Given the description of an element on the screen output the (x, y) to click on. 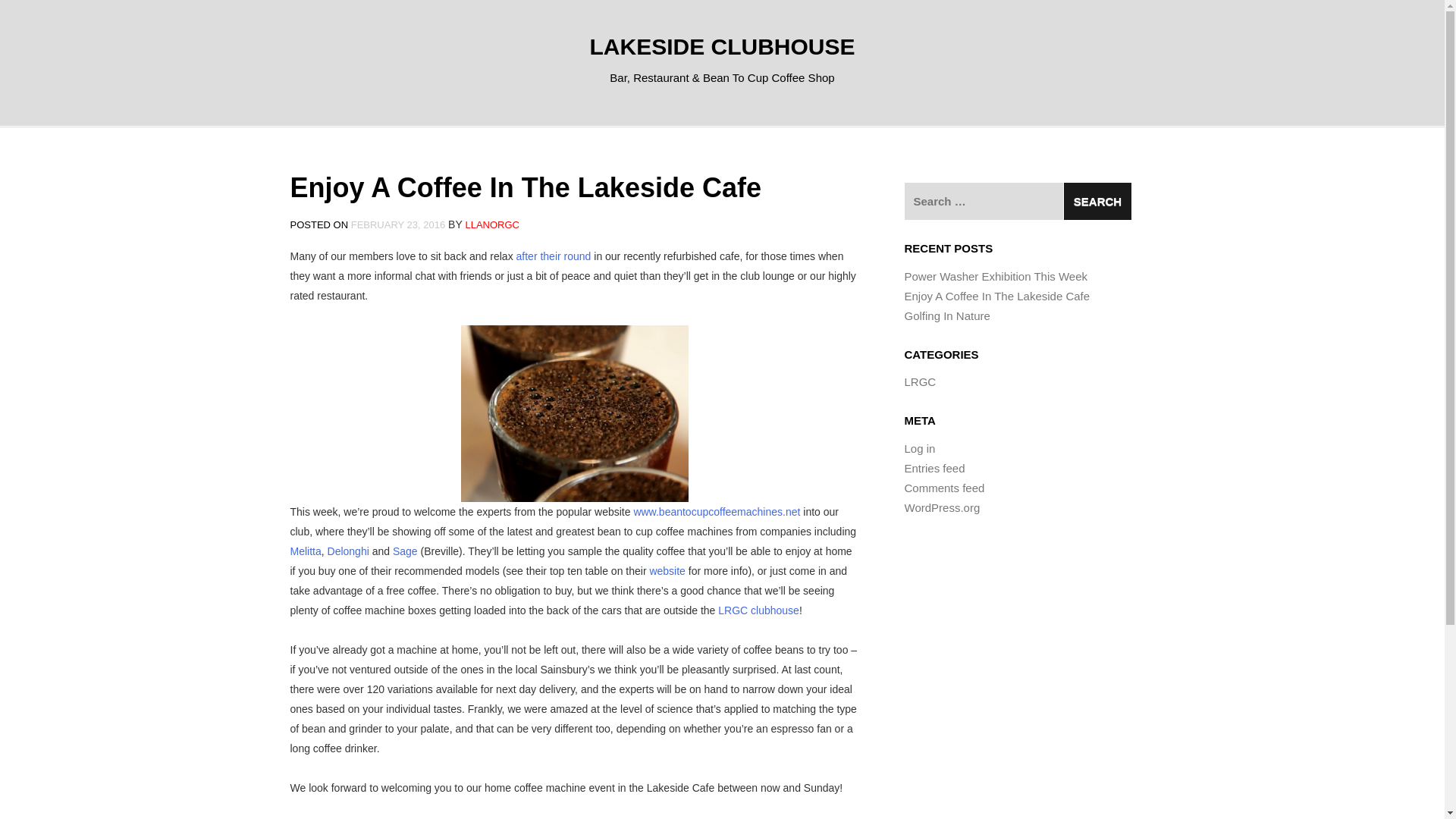
FEBRUARY 23, 2016 (397, 224)
LLANORGC (491, 224)
Delonghi (348, 551)
LRGC (920, 381)
Power Washer Exhibition This Week (995, 276)
Golfing In Nature (947, 315)
www.beantocupcoffeemachines.net (716, 511)
Search (1096, 201)
Sage (405, 551)
after their round (553, 256)
LAKESIDE CLUBHOUSE (721, 46)
Search (1096, 201)
Enjoy A Coffee In The Lakeside Cafe (996, 295)
Search (1096, 201)
website (666, 571)
